Given the description of an element on the screen output the (x, y) to click on. 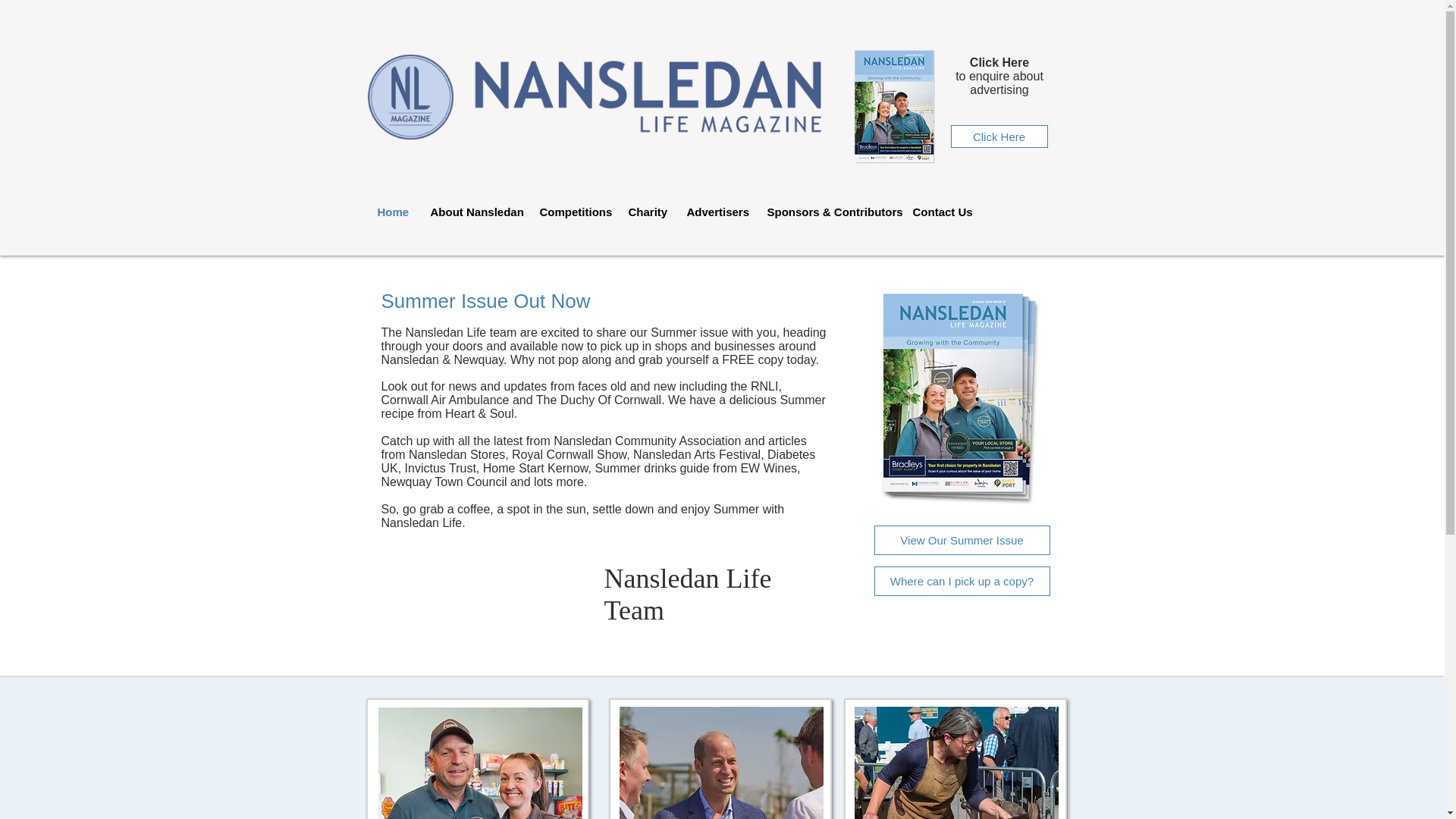
View Our Summer Issue (961, 540)
Where can I pick up a copy? (961, 581)
Advertisers (715, 212)
Contact Us (940, 212)
Home (392, 212)
Competitions (571, 212)
About Nansledan (473, 212)
Click Here (999, 136)
Charity (646, 212)
